Given the description of an element on the screen output the (x, y) to click on. 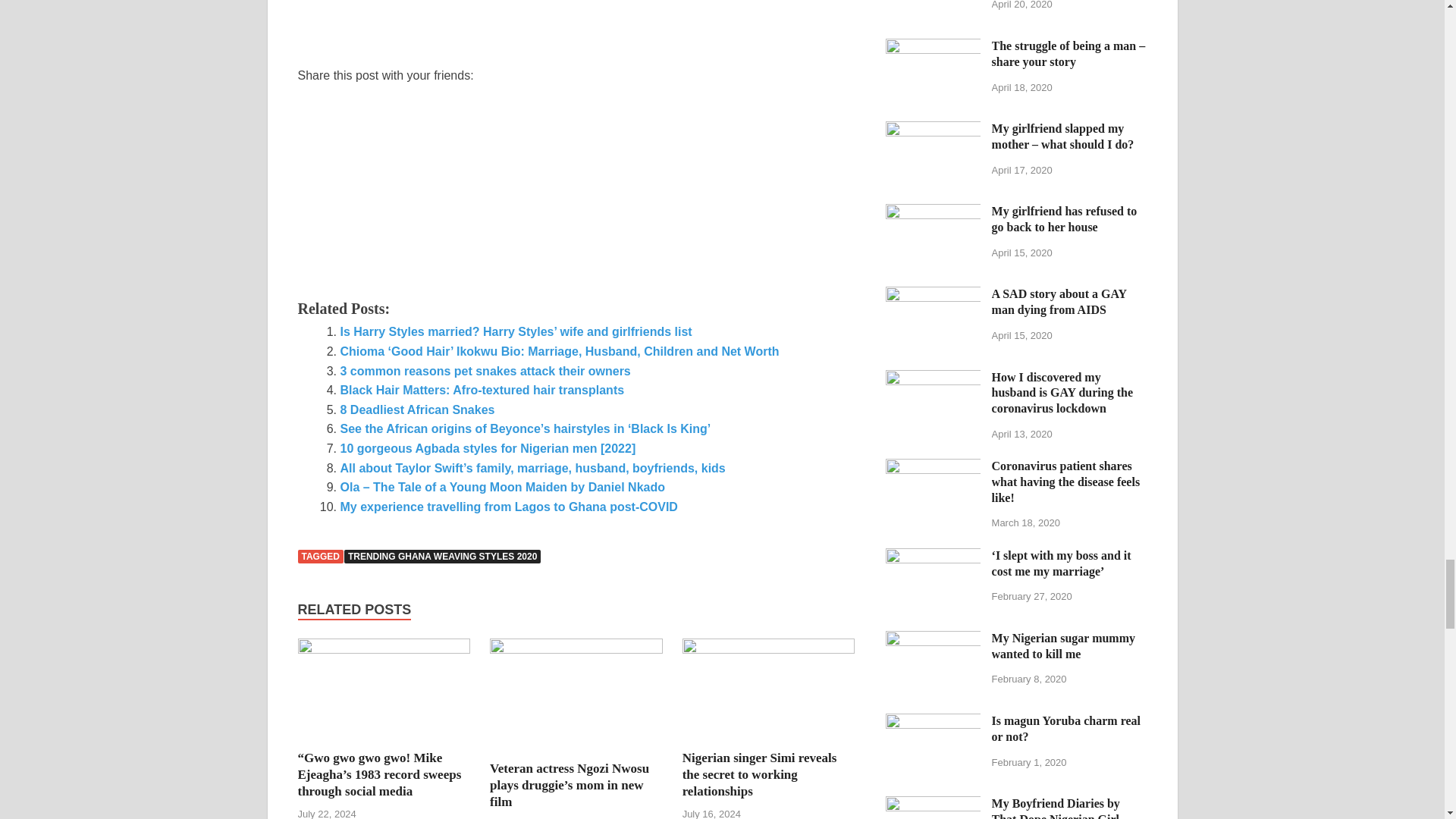
Black Hair Matters: Afro-textured hair transplants (481, 390)
3 common reasons pet snakes attack their owners (484, 370)
My experience travelling from Lagos to Ghana post-COVID (508, 506)
8 Deadliest African Snakes (417, 409)
